Given the description of an element on the screen output the (x, y) to click on. 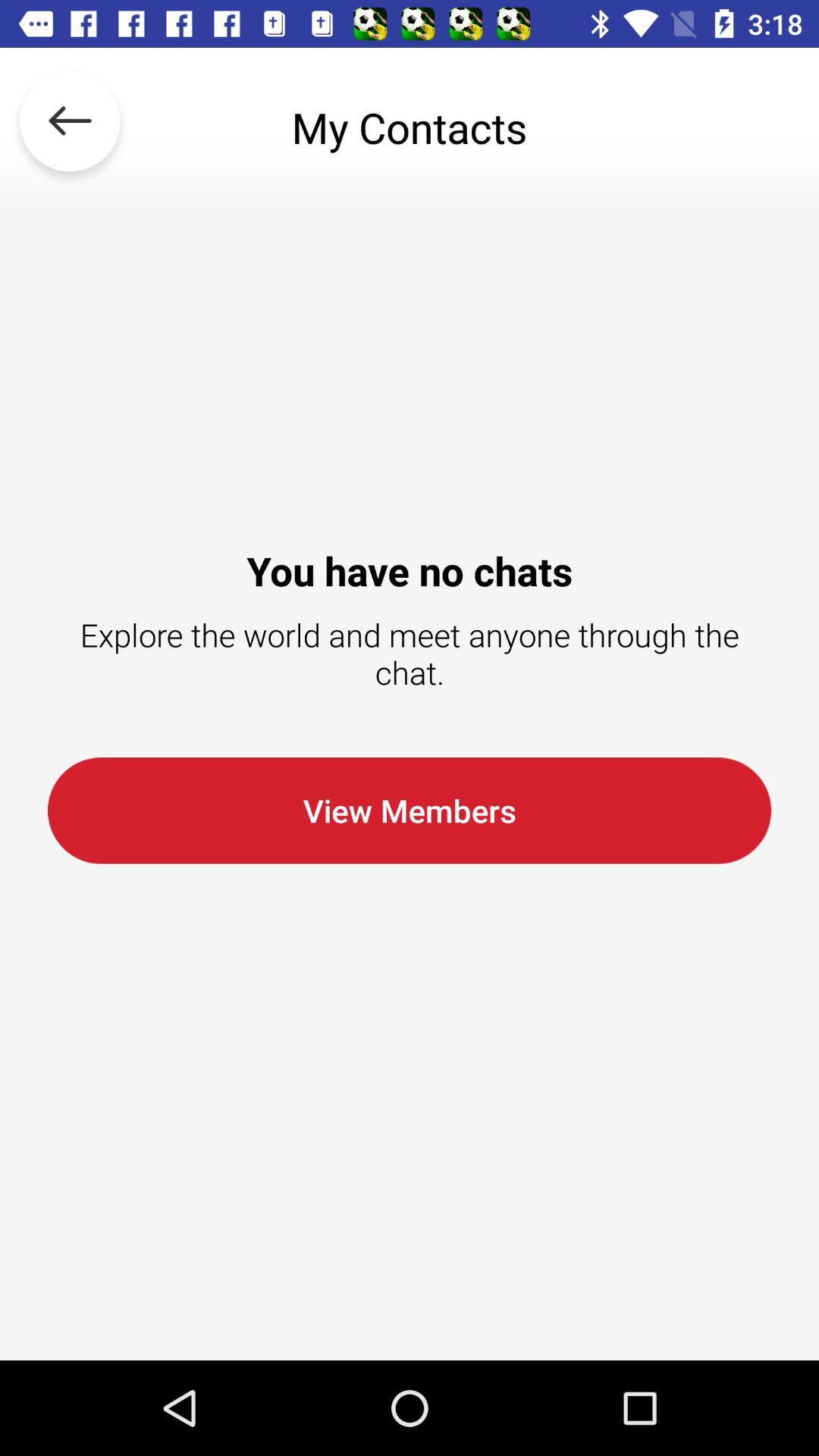
press item below explore the world item (409, 810)
